Given the description of an element on the screen output the (x, y) to click on. 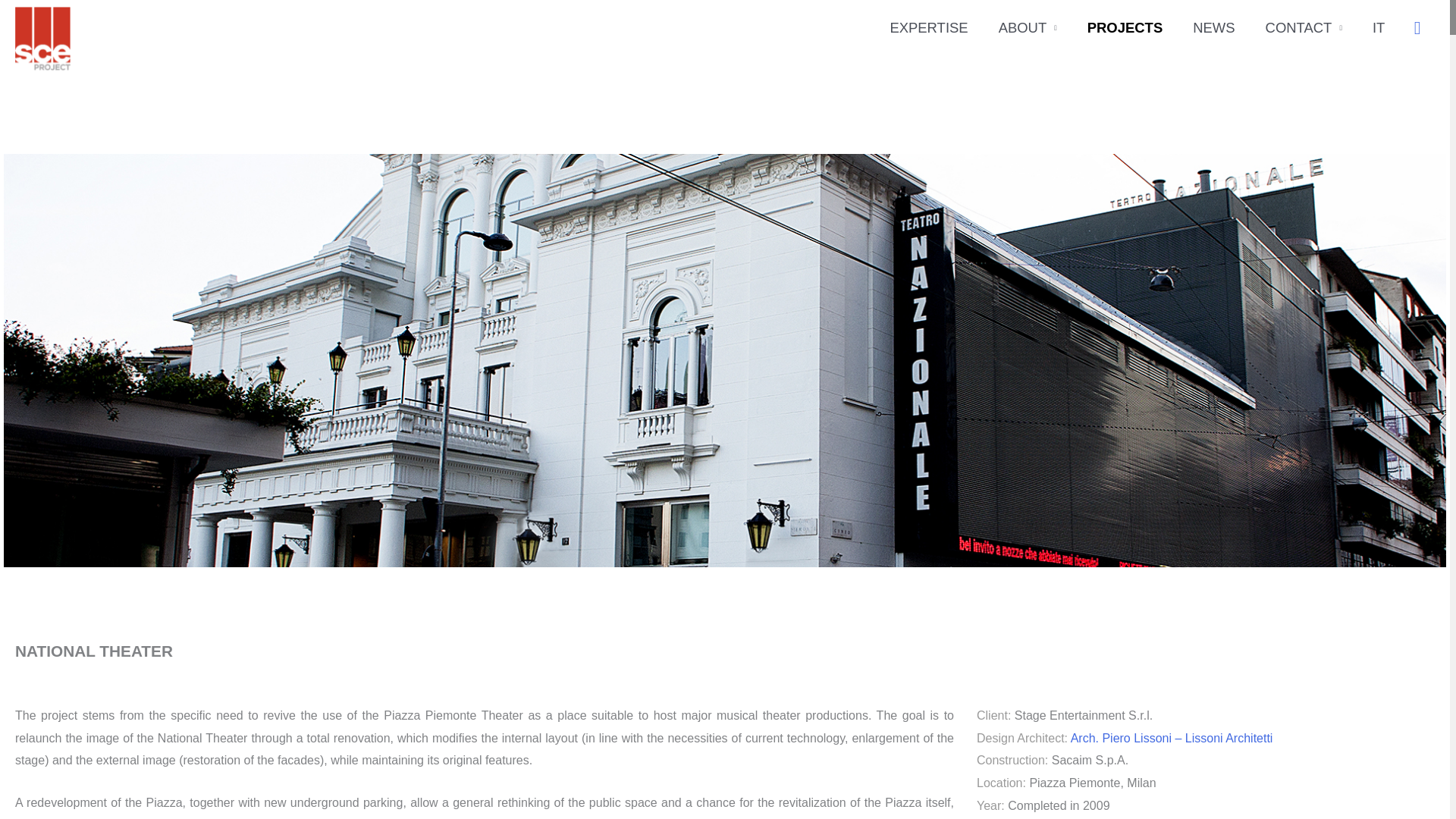
Search (1417, 27)
EXPERTISE (928, 28)
ABOUT (1027, 28)
CONTACT (1303, 28)
IT (1377, 28)
NEWS (1213, 28)
PROJECTS (1124, 28)
IT (1377, 28)
